Given the description of an element on the screen output the (x, y) to click on. 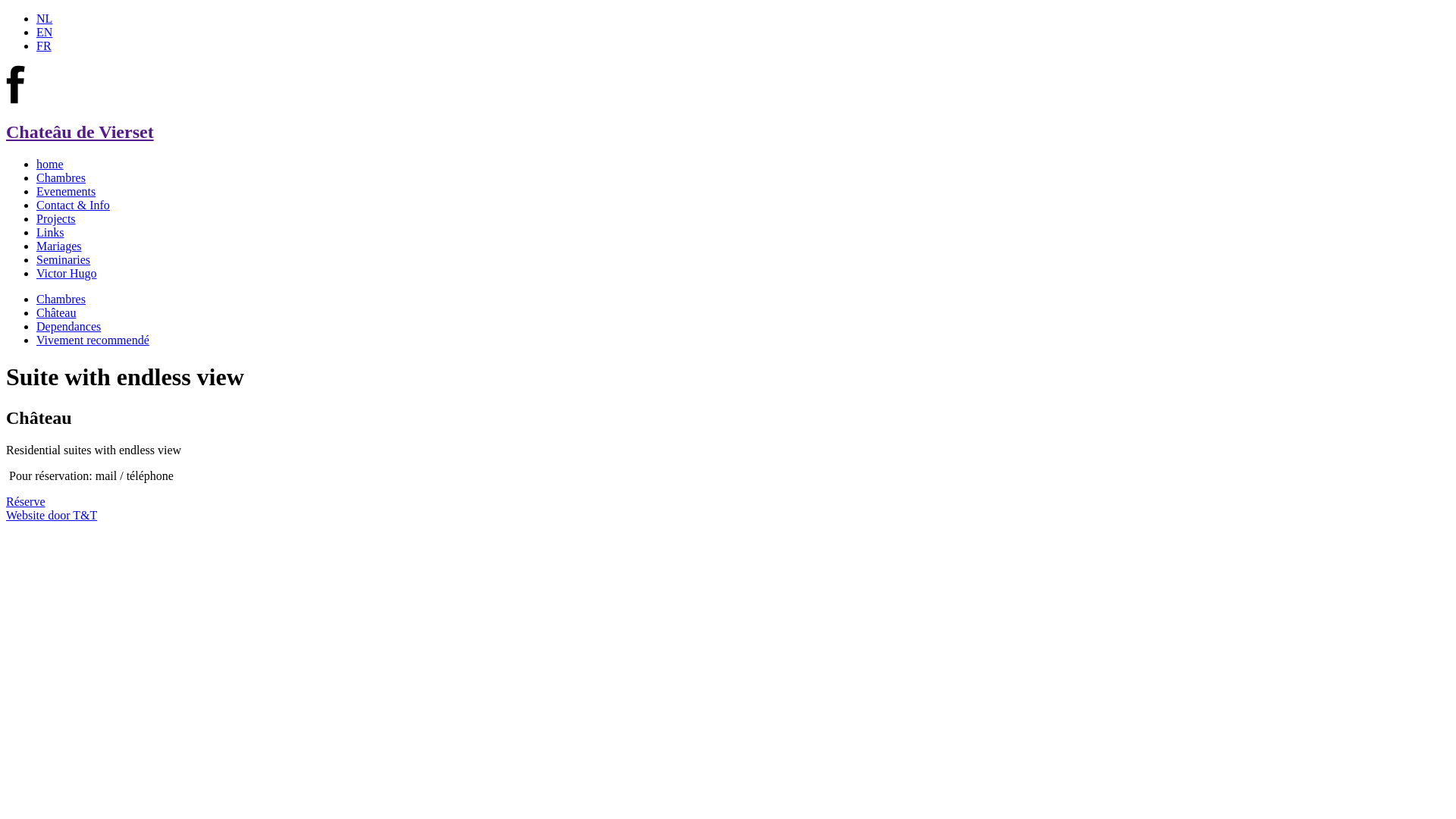
Dependances Element type: text (68, 326)
FR Element type: text (43, 45)
Evenements Element type: text (65, 191)
Chambres Element type: text (60, 298)
NL Element type: text (44, 18)
Contact & Info Element type: text (72, 204)
Seminaries Element type: text (63, 259)
Website door T&T Element type: text (51, 514)
Mariages Element type: text (58, 245)
Victor Hugo Element type: text (66, 272)
Chateau de Vierset op Facebook Element type: hover (15, 99)
Projects Element type: text (55, 218)
home Element type: text (49, 163)
EN Element type: text (44, 31)
Links Element type: text (49, 231)
Chambres Element type: text (60, 177)
